Given the description of an element on the screen output the (x, y) to click on. 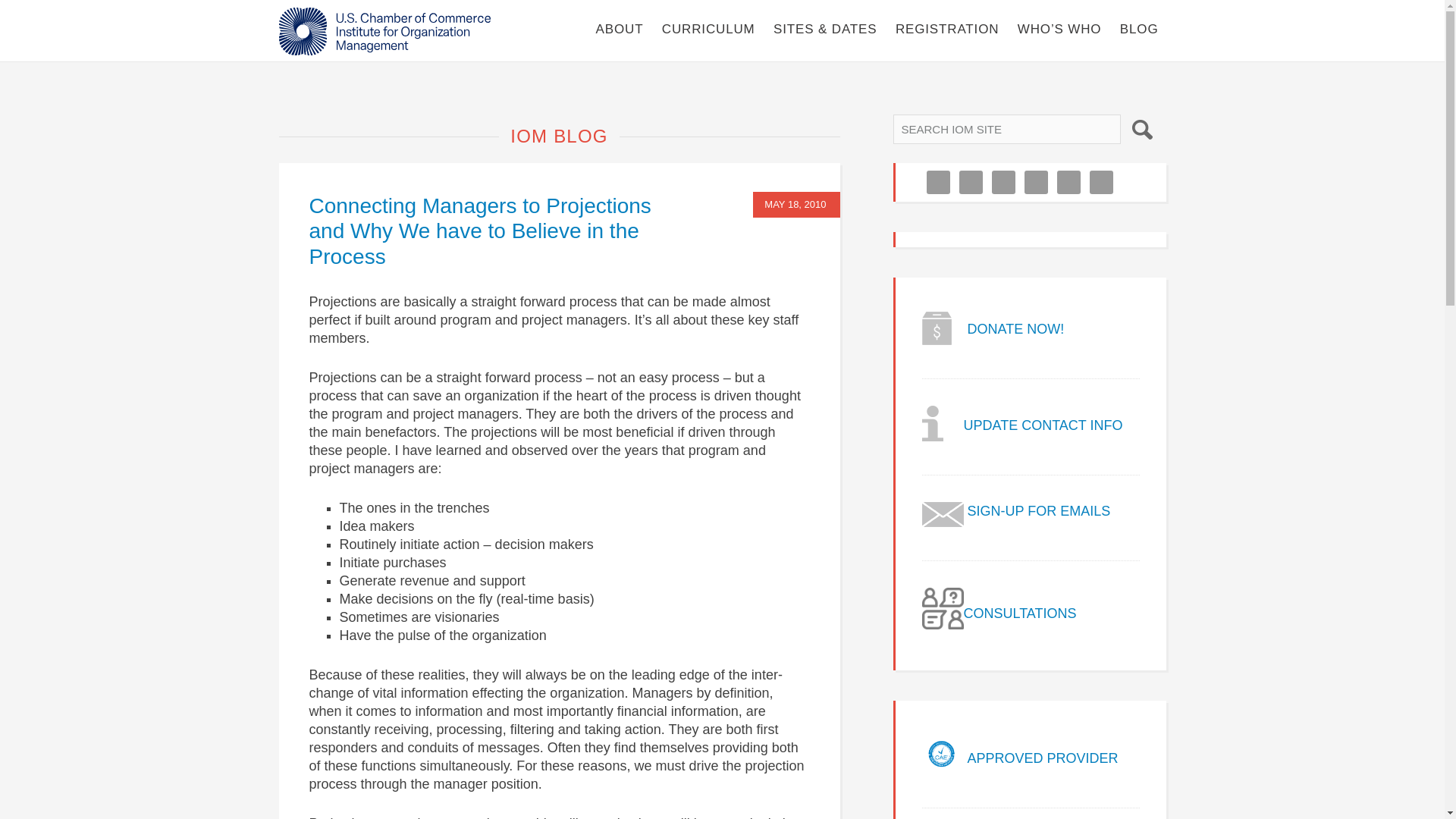
Update Contact Info (1021, 436)
CURRICULUM (707, 29)
REGISTRATION (947, 29)
ABOUT (619, 29)
BLOG (1139, 29)
CAE Approved Provider (1019, 769)
Blog (1139, 29)
Consultations (999, 624)
Donate (992, 340)
Contact Us (1015, 522)
